Given the description of an element on the screen output the (x, y) to click on. 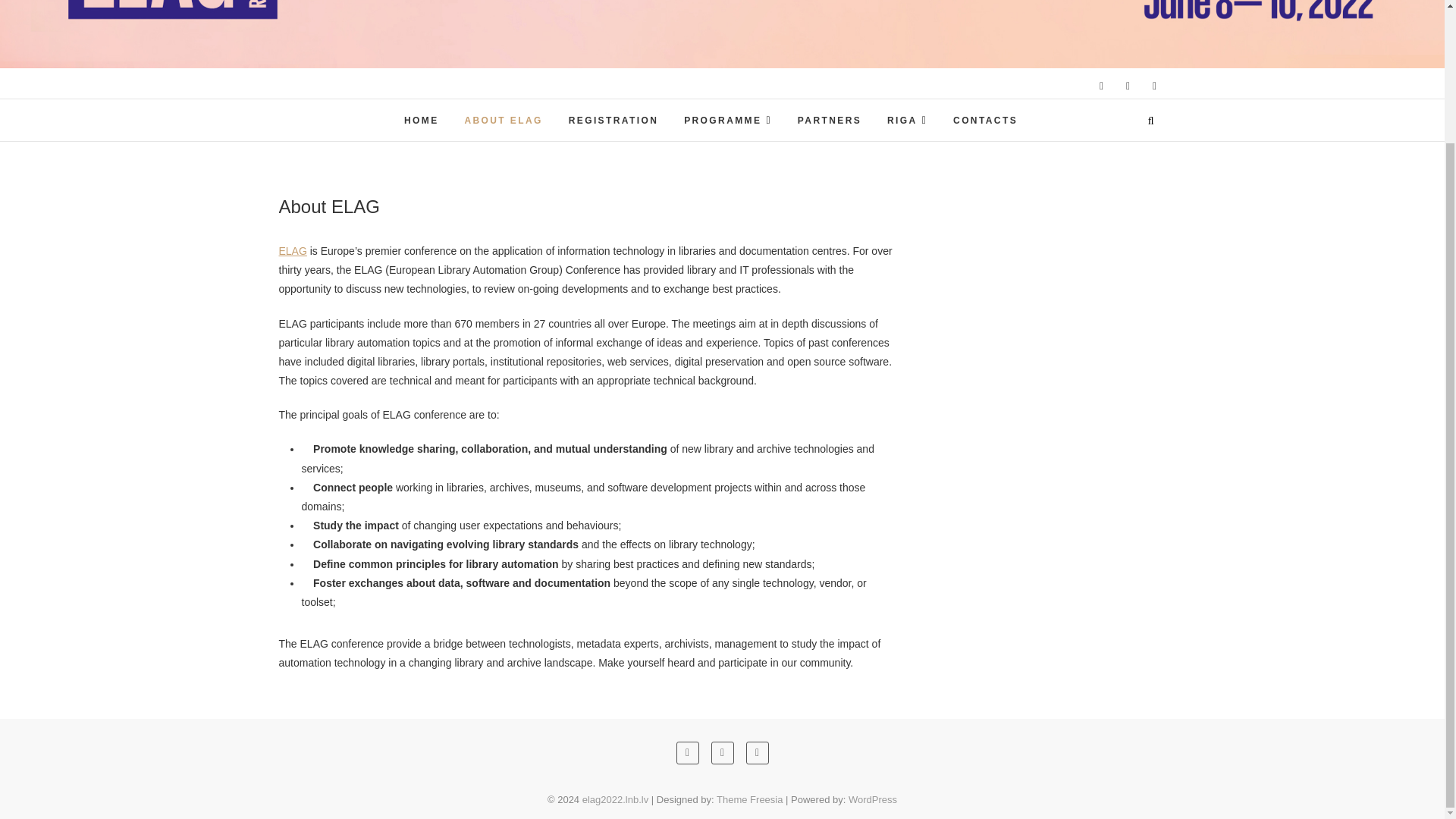
WordPress (872, 799)
RIGA (907, 119)
PARTNERS (829, 120)
ABOUT ELAG (502, 120)
ELAG (293, 250)
HOME (421, 120)
Theme Freesia (749, 799)
WordPress (872, 799)
elag2022.lnb.lv (614, 799)
PROGRAMME (727, 119)
elag2022.lnb.lv (646, 101)
CONTACTS (985, 120)
elag2022.lnb.lv (614, 799)
REGISTRATION (613, 120)
Theme Freesia (749, 799)
